Given the description of an element on the screen output the (x, y) to click on. 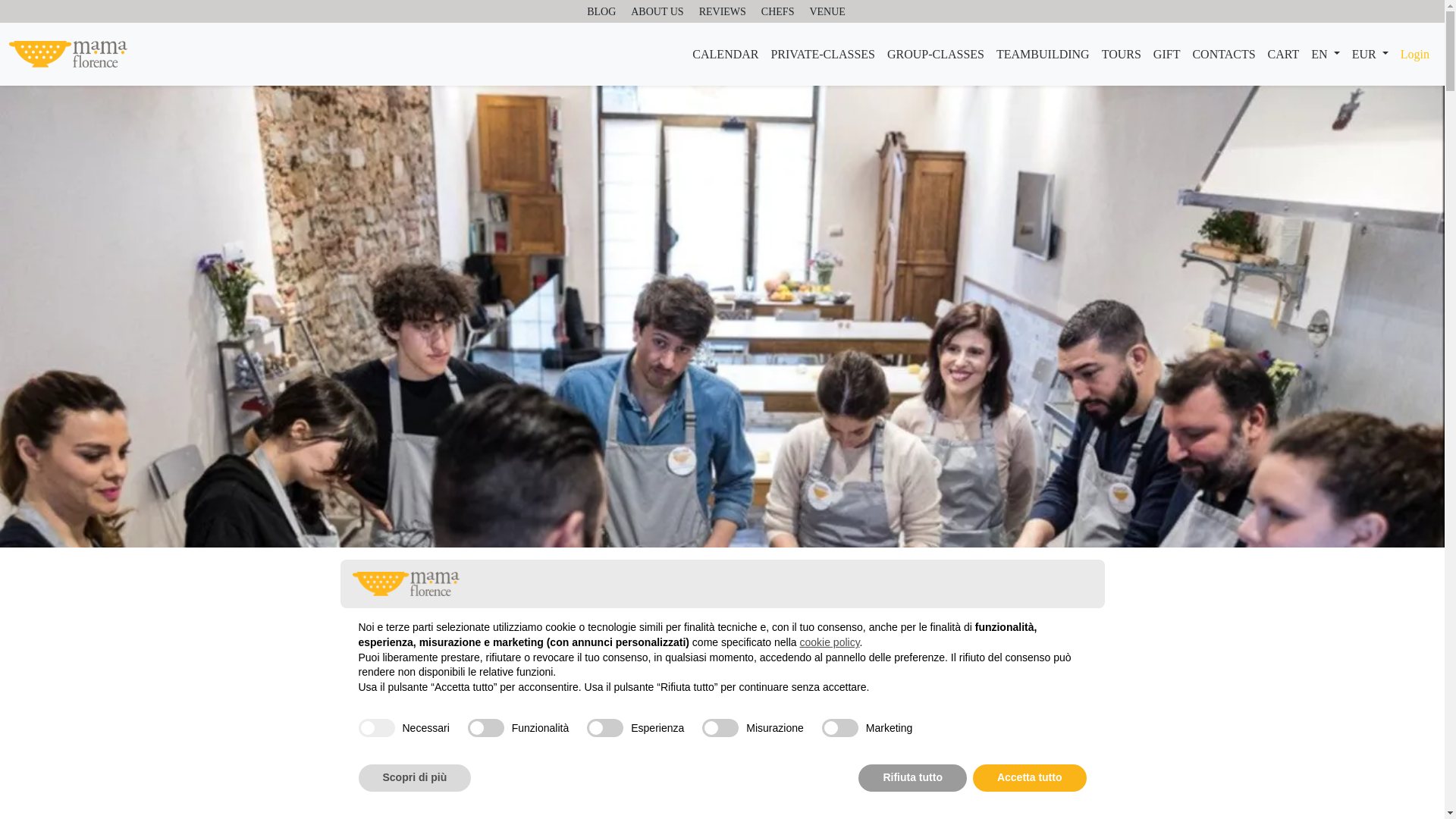
GROUP-CLASSES (935, 54)
true (376, 728)
false (840, 728)
PRIVATE-CLASSES (822, 54)
ABOUT US (656, 11)
BLOG (600, 11)
TEAMBUILDING (1043, 54)
CALENDAR (724, 54)
Login (1414, 54)
VENUE (826, 11)
false (604, 728)
CHEFS (777, 11)
CONTACTS (1223, 54)
cookie policy (829, 642)
false (719, 728)
